Given the description of an element on the screen output the (x, y) to click on. 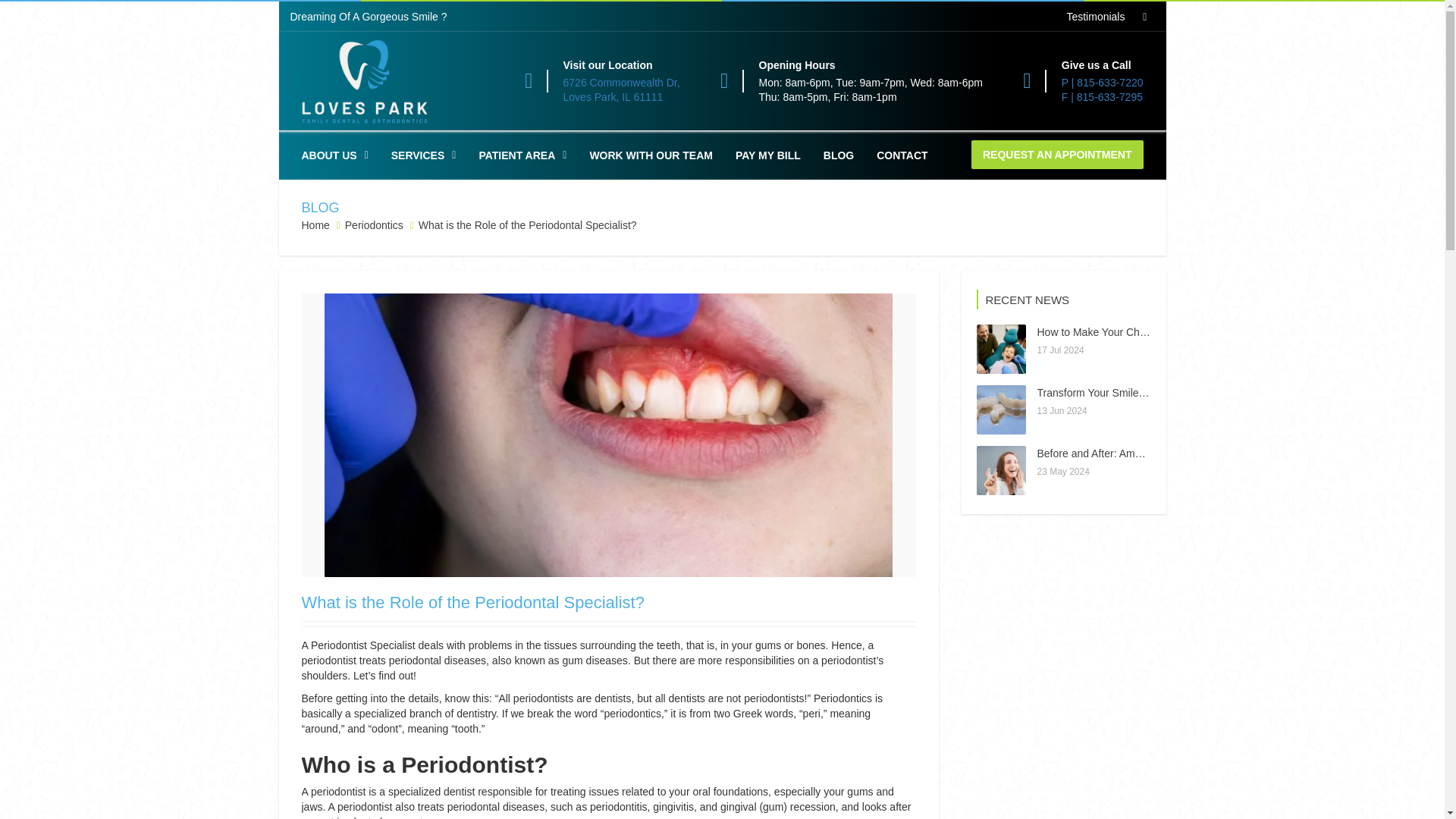
REQUEST AN APPOINTMENT (1056, 154)
Testimonials (1094, 16)
CONTACT (621, 90)
Home (901, 154)
WORK WITH OUR TEAM (315, 224)
Before and After: Amazing Invisalign Transformations (650, 154)
Periodontics (1161, 453)
ABOUT US (374, 224)
BLOG (334, 154)
PAY MY BILL (838, 154)
SERVICES (768, 154)
PATIENT AREA (424, 154)
What is the Role of the Periodontal Specialist? (521, 154)
